Given the description of an element on the screen output the (x, y) to click on. 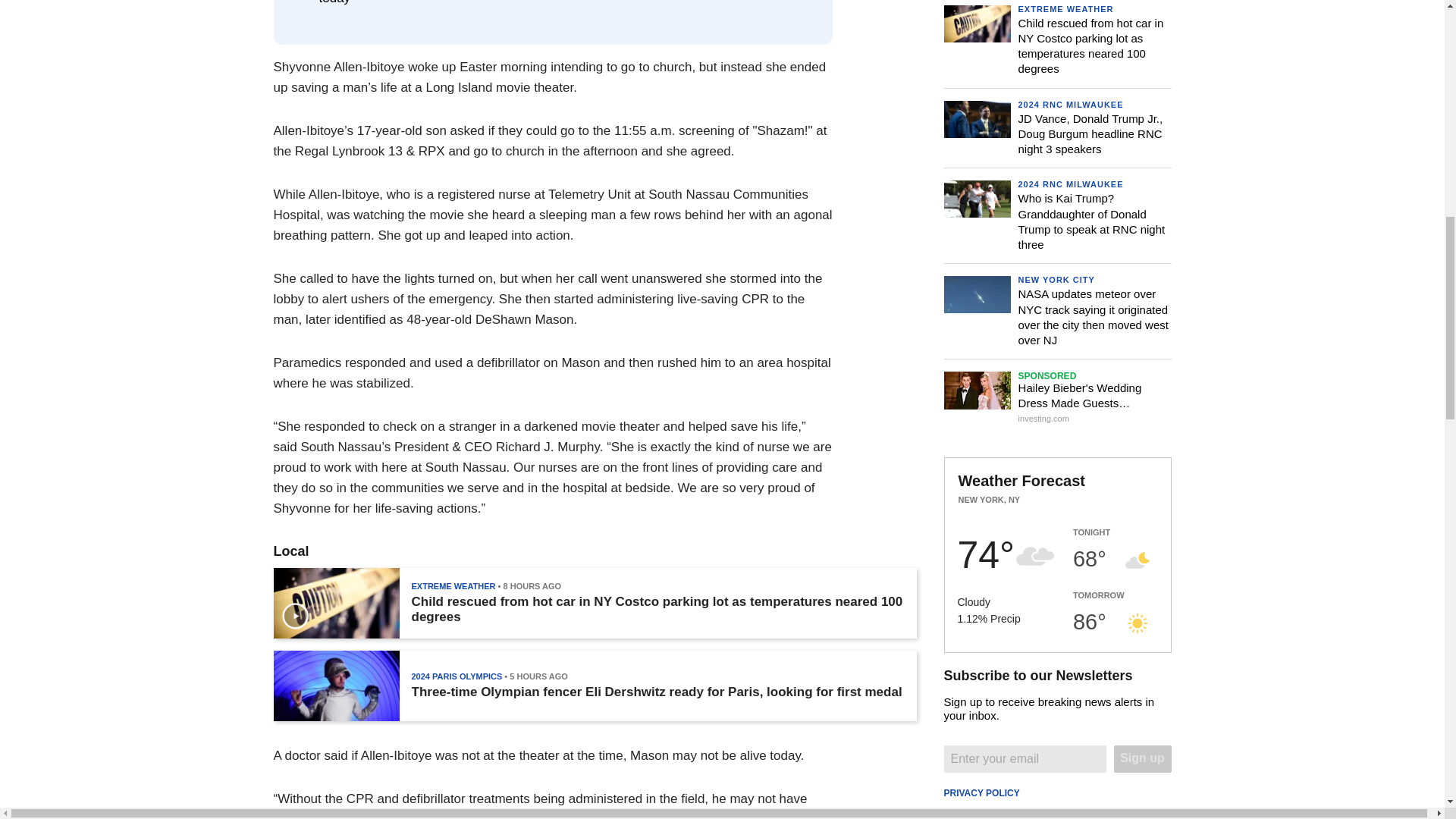
2024 PARIS OLYMPICS (456, 675)
EXTREME WEATHER (452, 585)
